Given the description of an element on the screen output the (x, y) to click on. 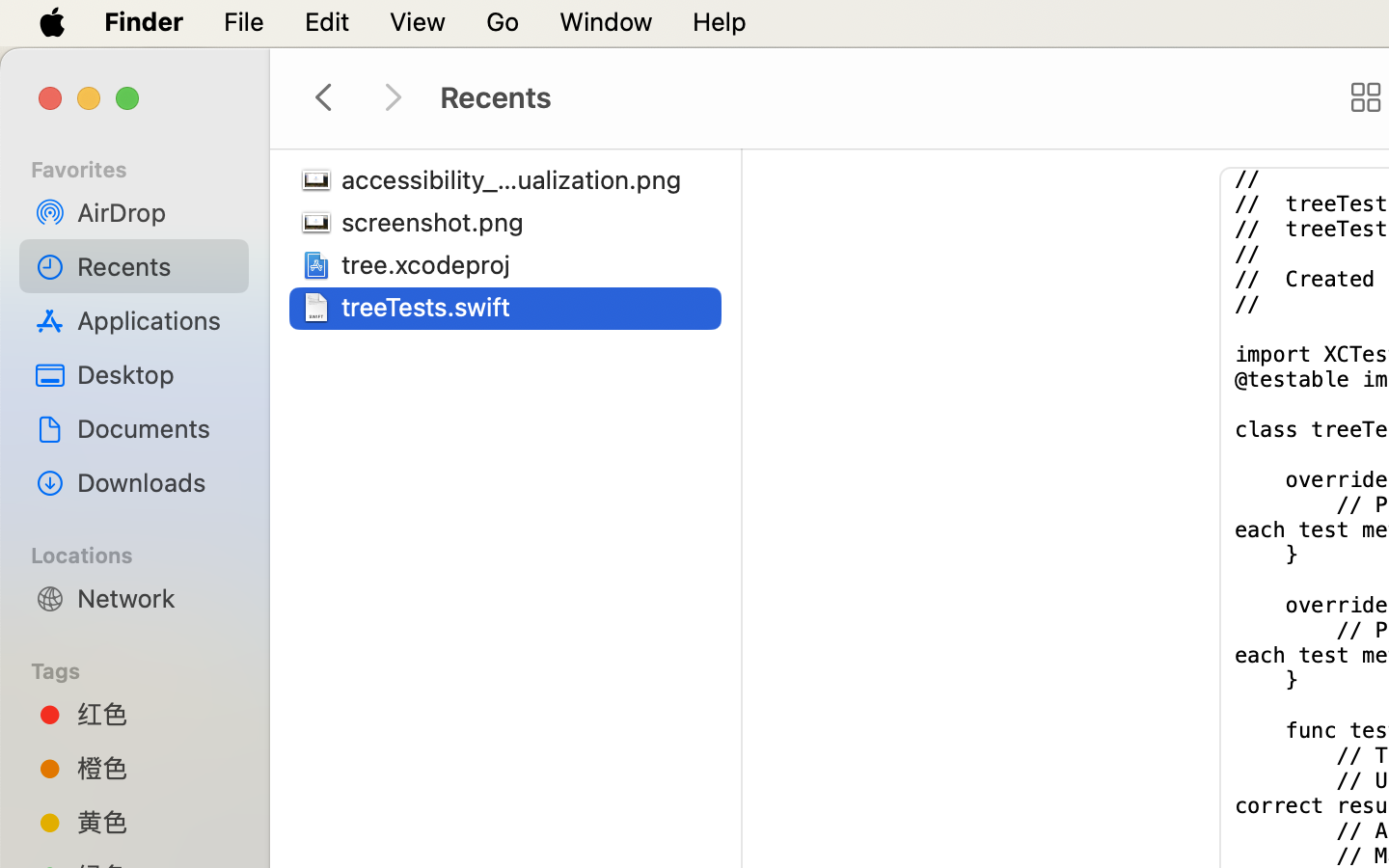
Tags Element type: AXStaticText (145, 668)
Desktop Element type: AXStaticText (155, 373)
